Given the description of an element on the screen output the (x, y) to click on. 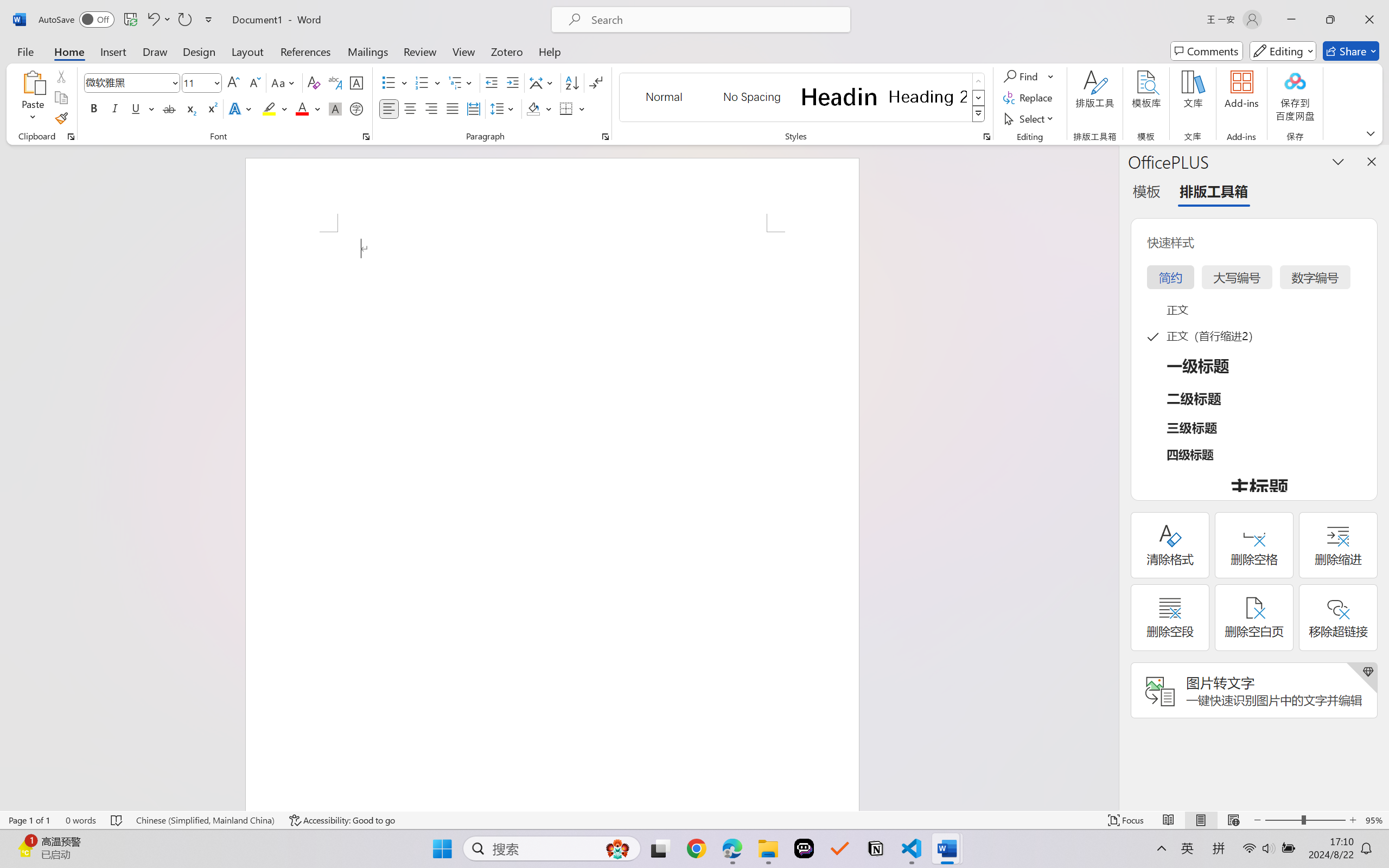
Font Color Red (302, 108)
Undo <ApplyStyleToDoc>b__0 (152, 19)
